Given the description of an element on the screen output the (x, y) to click on. 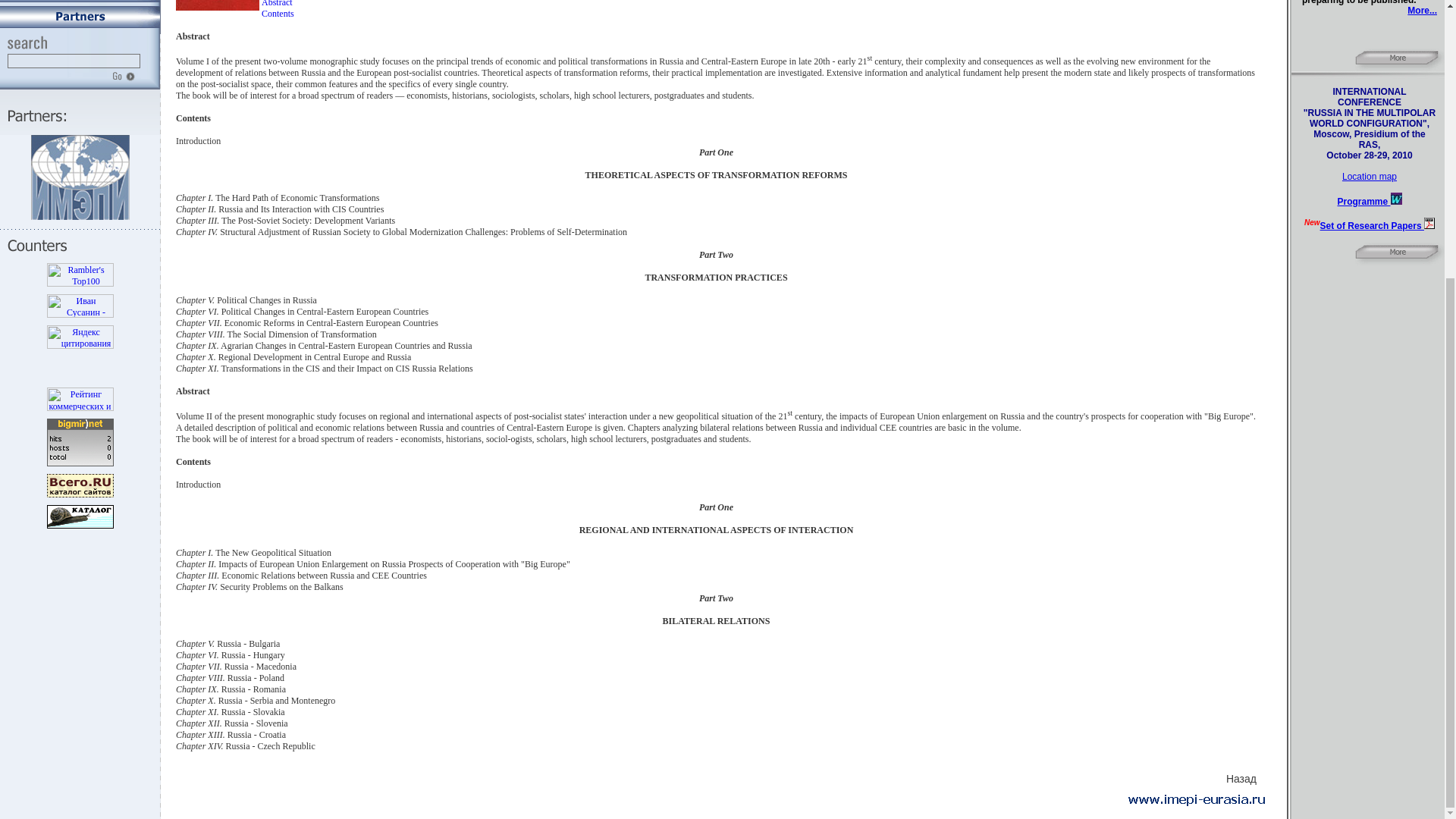
More... (1422, 9)
Set of Research Papers (1377, 225)
Contents (278, 13)
Programme (1368, 201)
Abstract (277, 3)
Location map (1369, 176)
